Given the description of an element on the screen output the (x, y) to click on. 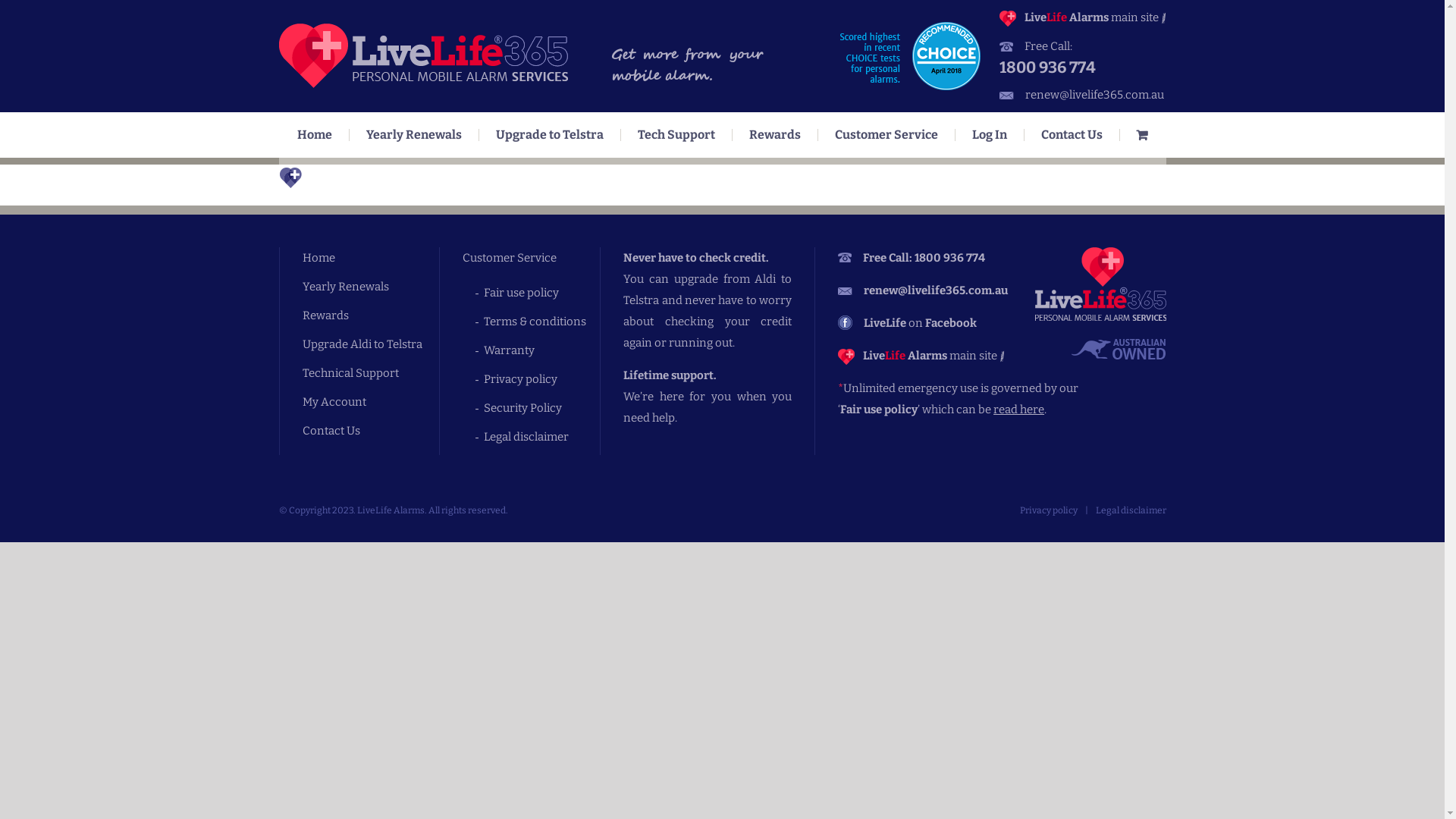
Warranty Element type: text (541, 349)
Upgrade Aldi to Telstra Element type: text (370, 343)
Customer Service Element type: text (885, 134)
Contact Us Element type: text (370, 430)
Rewards Element type: text (775, 134)
Upgrade to Telstra Element type: text (550, 134)
1800 936 774 Element type: text (949, 257)
Fair use policy Element type: text (541, 292)
read here Element type: text (1018, 409)
My Account Element type: text (370, 401)
1800 936 774 Element type: text (1082, 66)
Legal disclaimer Element type: text (1130, 510)
Home Element type: text (370, 257)
Home Element type: text (314, 134)
Log In Element type: text (989, 134)
Contact Us Element type: text (1071, 134)
Tech Support Element type: text (675, 134)
Legal disclaimer Element type: text (541, 436)
Privacy policy Element type: text (541, 378)
Customer Service Element type: text (530, 257)
Yearly Renewals Element type: text (413, 134)
Privacy policy Element type: text (1047, 510)
Technical Support Element type: text (370, 372)
Security Policy Element type: text (541, 407)
Rewards Element type: text (370, 315)
Yearly Renewals Element type: text (370, 286)
Terms & conditions Element type: text (541, 321)
